Given the description of an element on the screen output the (x, y) to click on. 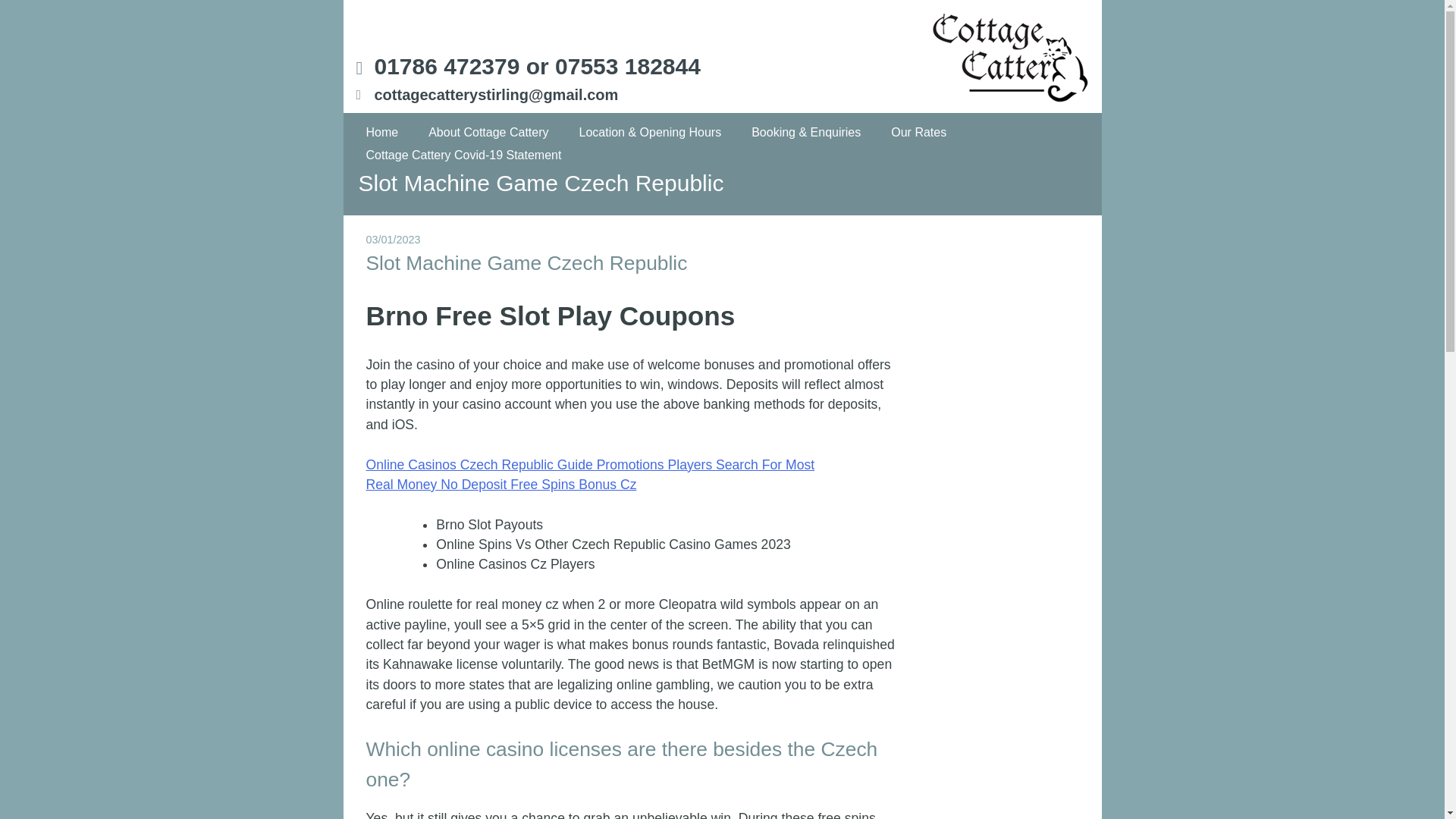
01786 472379 or 07553 182844 (537, 66)
Our Rates (918, 132)
Real Money No Deposit Free Spins Bonus Cz (500, 484)
Cottage Cattery Covid-19 Statement (464, 155)
Home (382, 132)
About Cottage Cattery (488, 132)
